Given the description of an element on the screen output the (x, y) to click on. 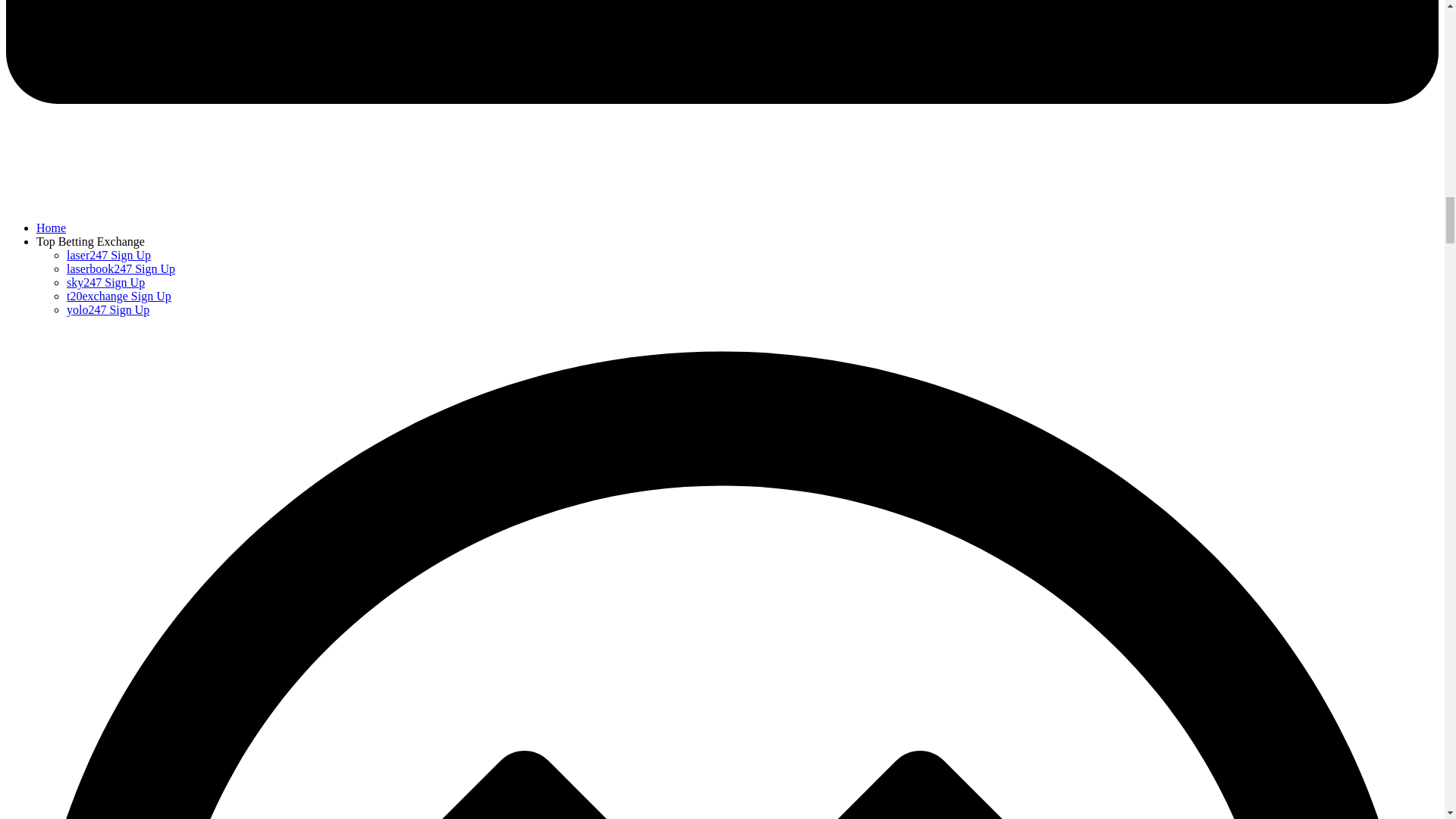
laserbook247 Sign Up (120, 268)
Top Betting Exchange (90, 241)
t20exchange Sign Up (118, 295)
yolo247 Sign Up (107, 309)
Home (50, 227)
sky247 Sign Up (105, 282)
laser247 Sign Up (108, 254)
